Given the description of an element on the screen output the (x, y) to click on. 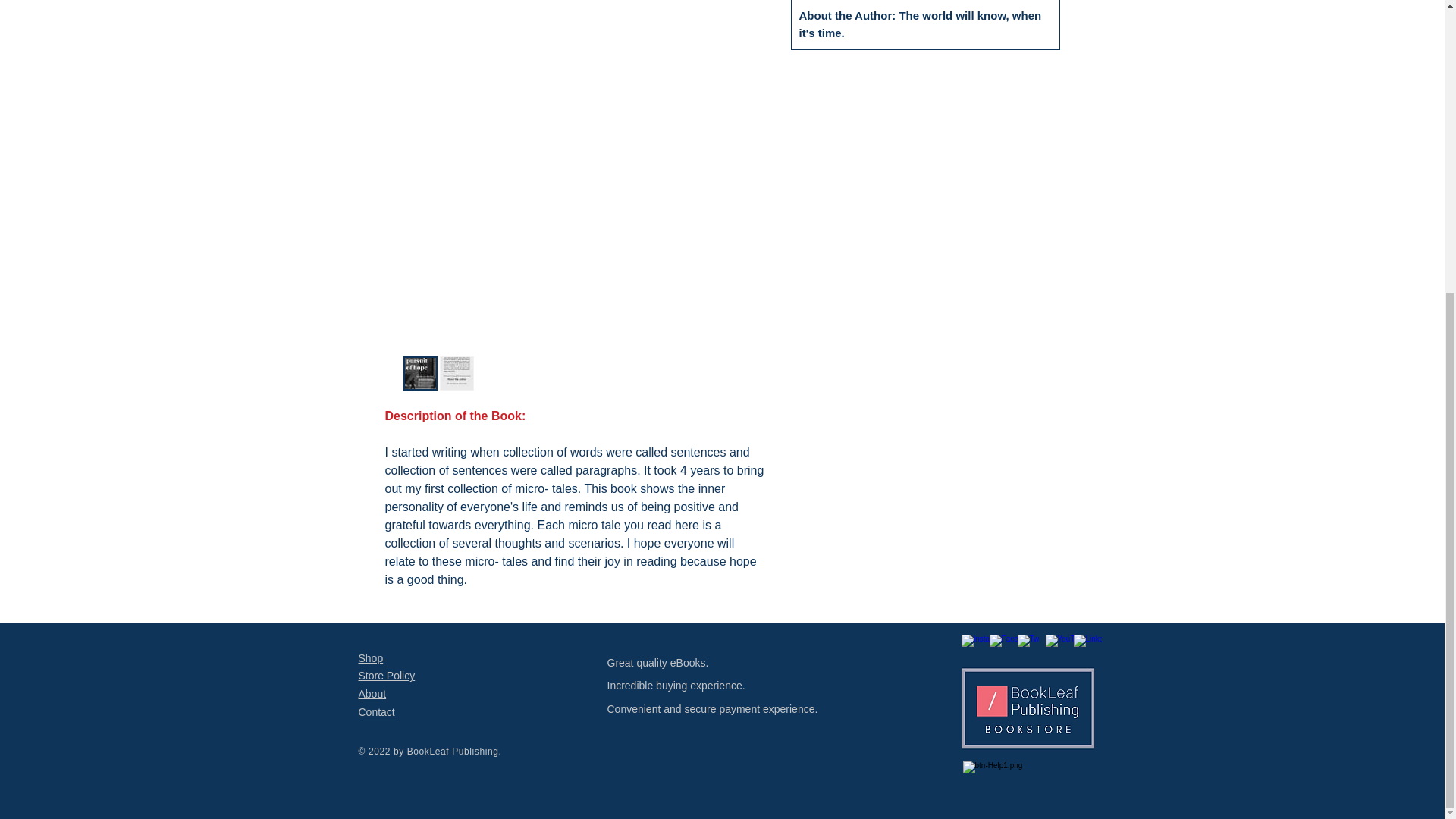
Shop (370, 657)
About (371, 693)
Store Policy (386, 675)
Contact (376, 711)
